Given the description of an element on the screen output the (x, y) to click on. 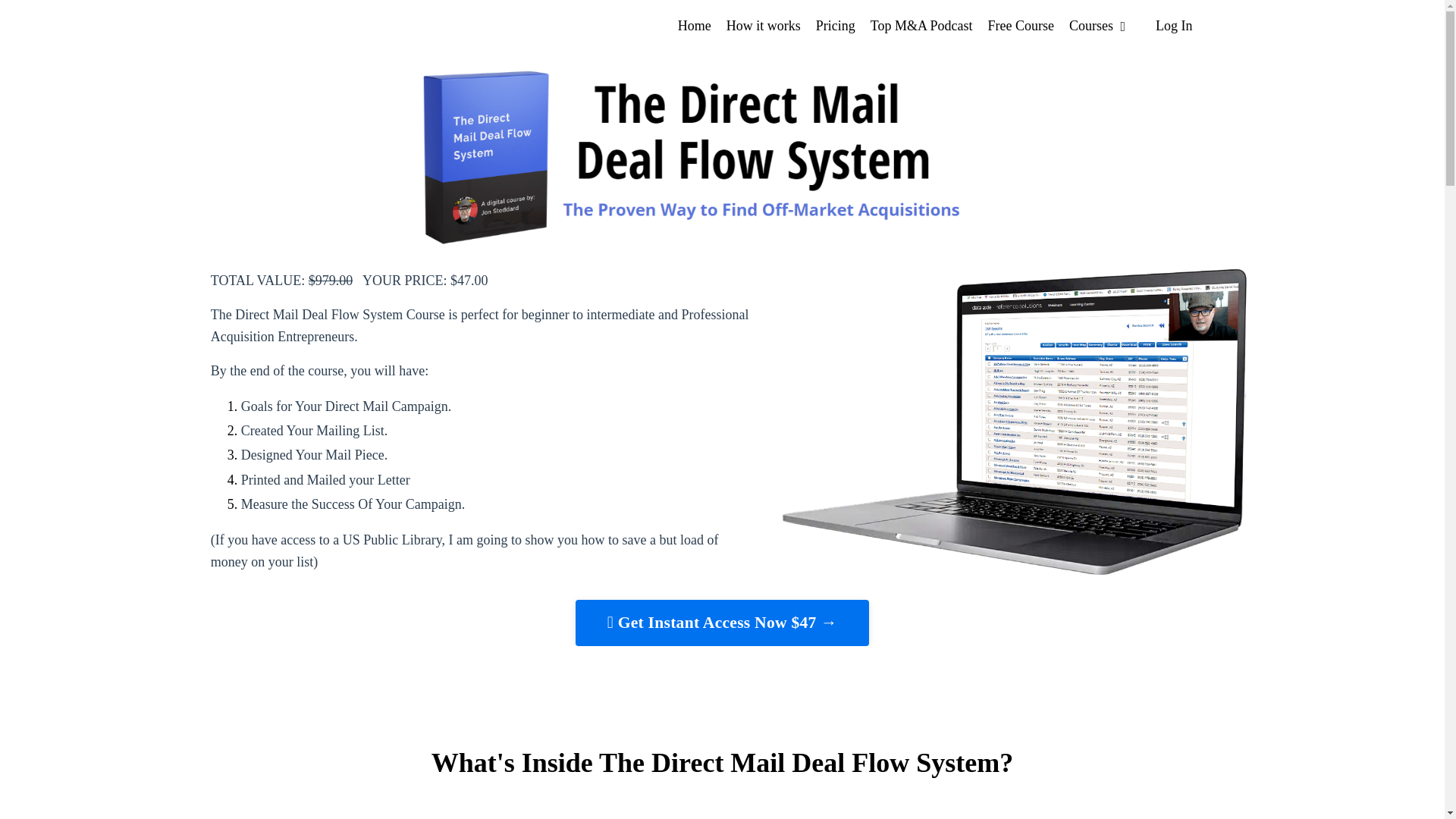
How it works (763, 25)
Home (694, 25)
Log In (1174, 25)
Courses (1096, 25)
Pricing (835, 25)
Free Course (1019, 25)
